Given the description of an element on the screen output the (x, y) to click on. 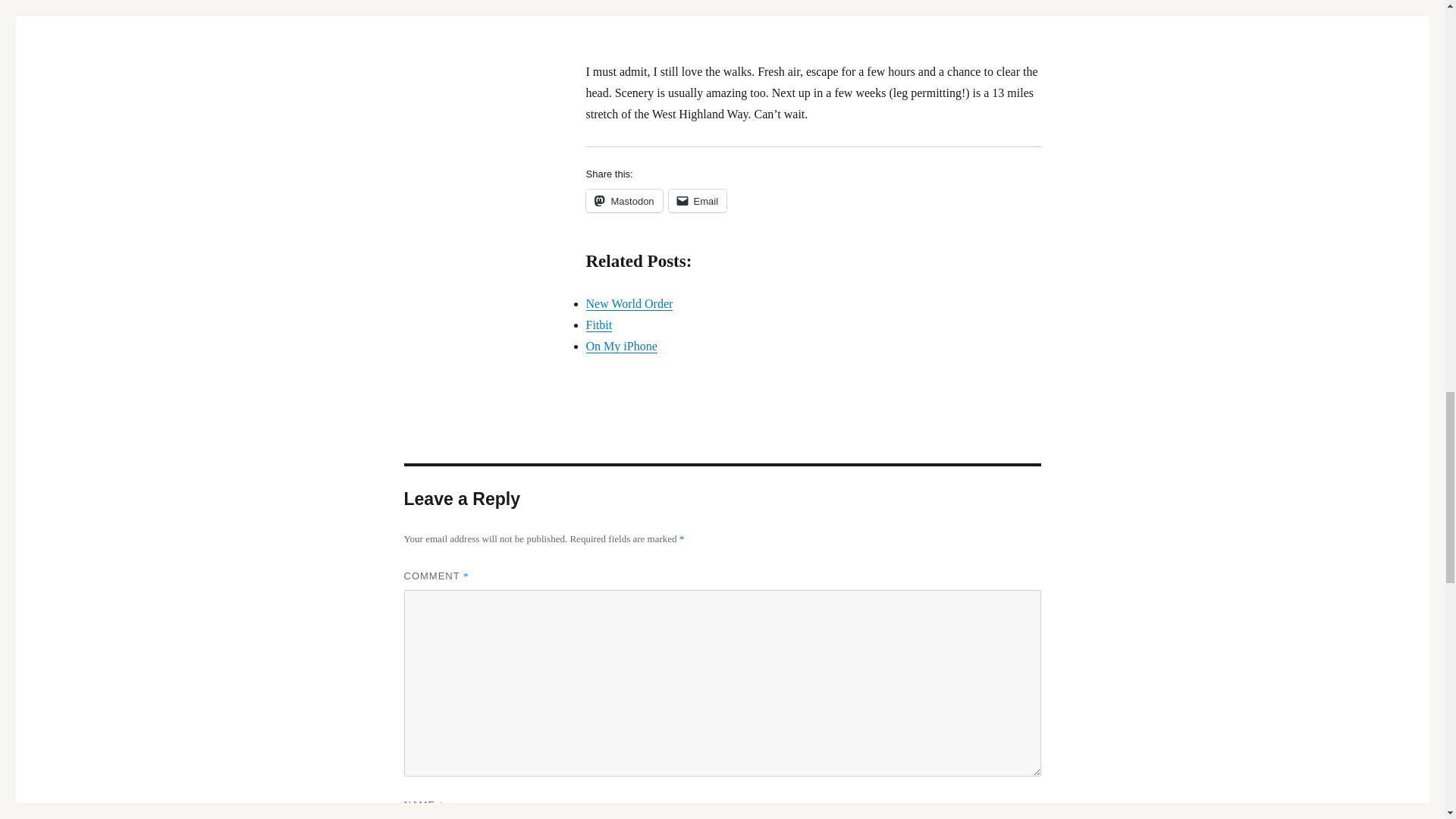
Fitbit (598, 324)
New World Order (628, 303)
Loch Lomond by Ian D, on Flickr (813, 20)
Mastodon (623, 200)
Click to share on Mastodon (623, 200)
On My iPhone (620, 345)
Email (697, 200)
Click to email a link to a friend (697, 200)
